Given the description of an element on the screen output the (x, y) to click on. 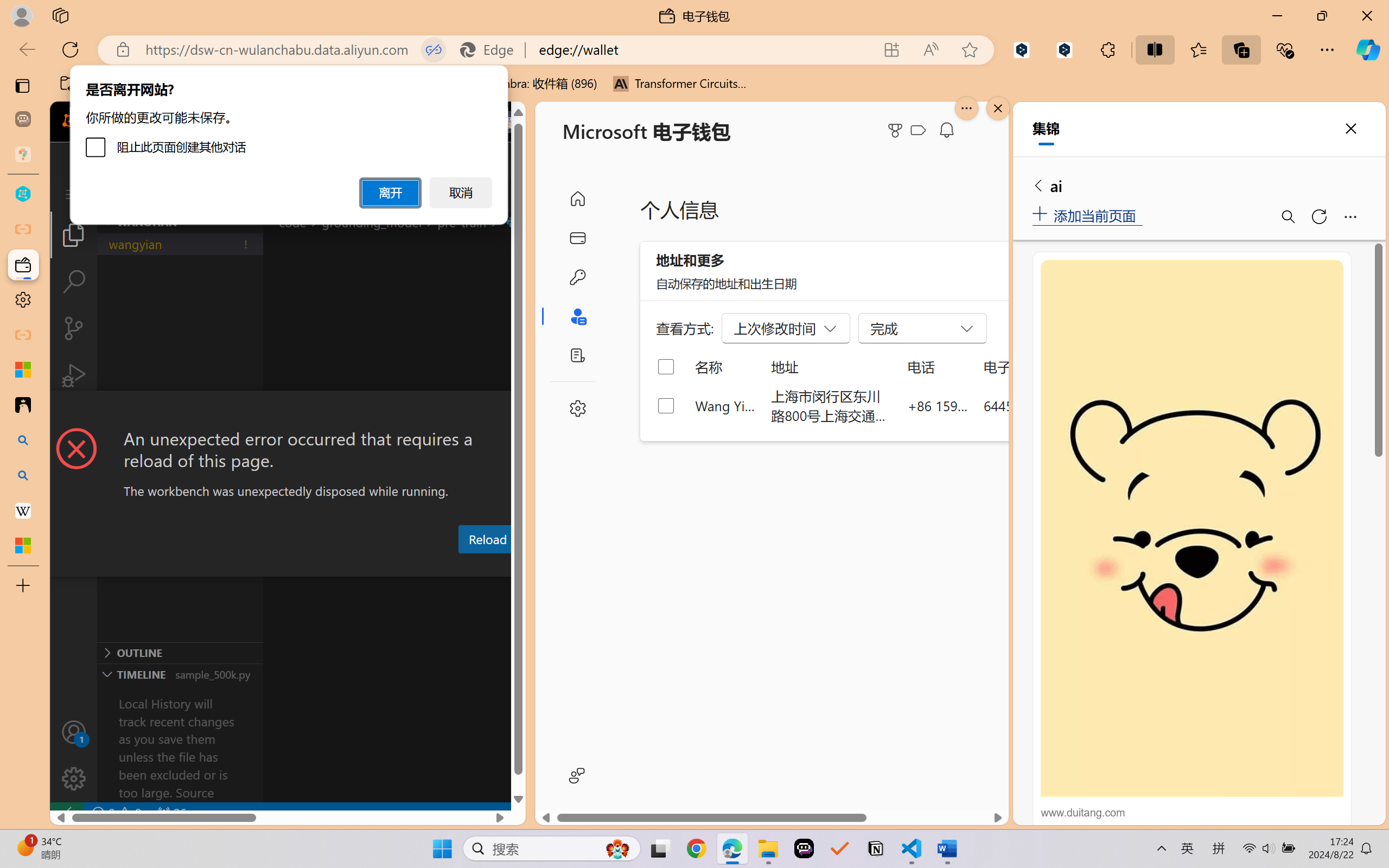
No Problems (115, 812)
Manage (73, 755)
